Given the description of an element on the screen output the (x, y) to click on. 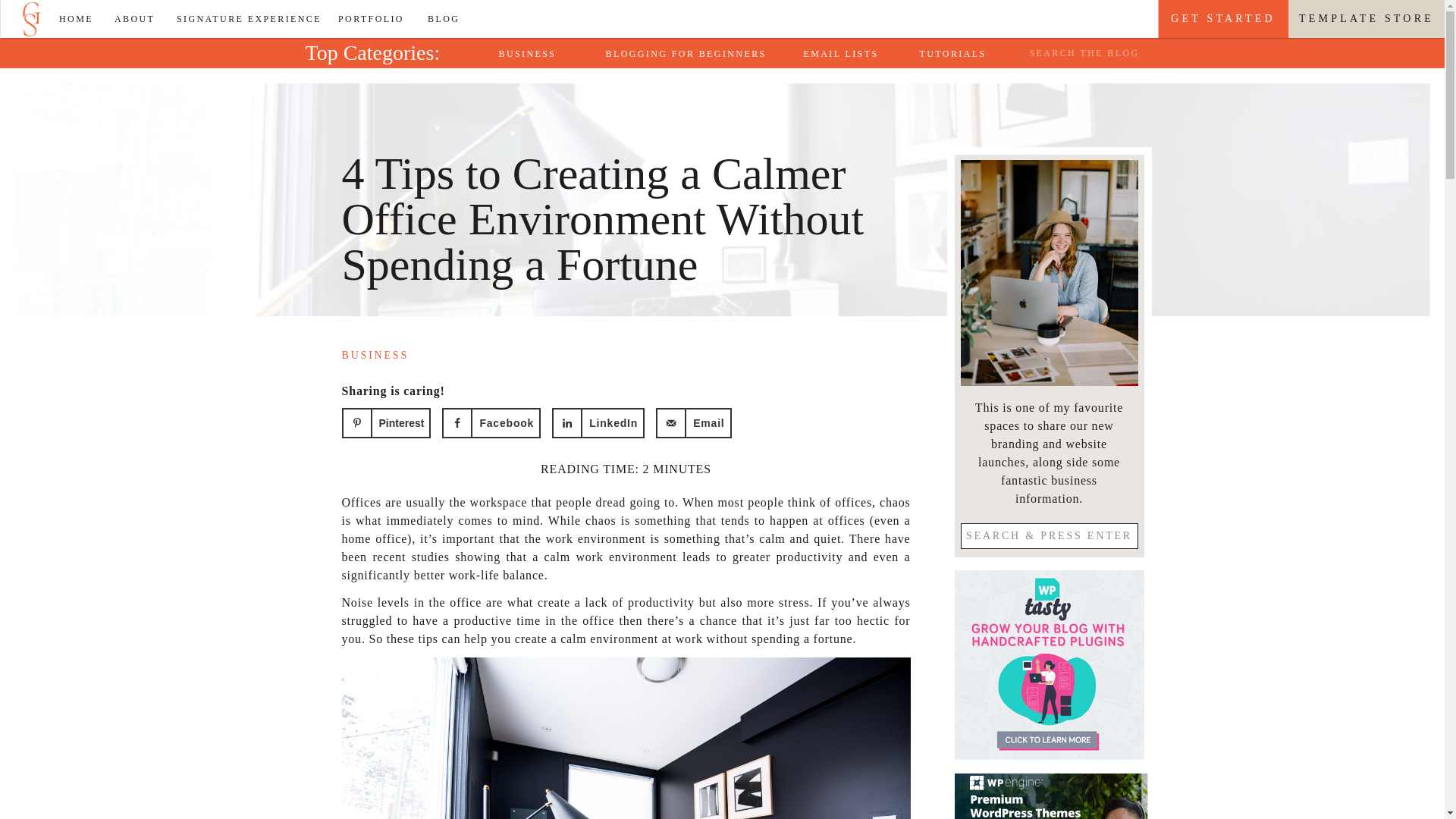
Send over email (693, 422)
LinkedIn (598, 422)
Facebook (491, 422)
TUTORIALS (955, 52)
BUSINESS (374, 355)
EMAIL LISTS (844, 52)
BLOGGING FOR BEGINNERS (688, 52)
BLOG (447, 18)
Email (693, 422)
GET STARTED (1222, 18)
BUSINESS (536, 52)
Share on LinkedIn (598, 422)
HOME (79, 18)
SIGNATURE EXPERIENCE (249, 18)
Save to Pinterest (385, 422)
